Given the description of an element on the screen output the (x, y) to click on. 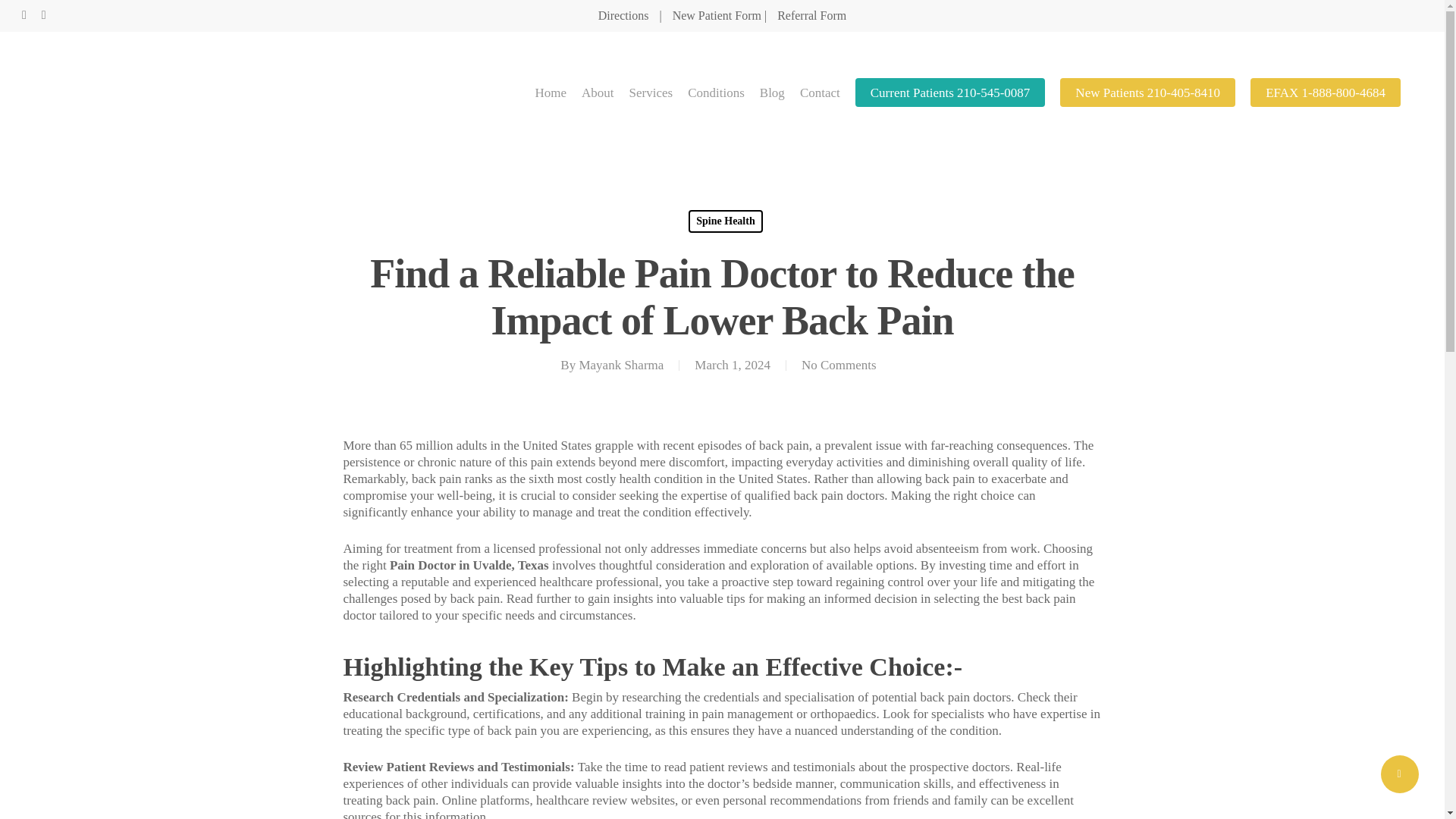
Conditions (715, 92)
Directions (627, 15)
Home (551, 92)
Blog (772, 92)
Contact (819, 92)
Referral Form (811, 15)
Services (650, 92)
About (597, 92)
New Patient Form (716, 15)
Current Patients 210-545-0087 (950, 92)
Posts by Mayank Sharma (620, 364)
